Given the description of an element on the screen output the (x, y) to click on. 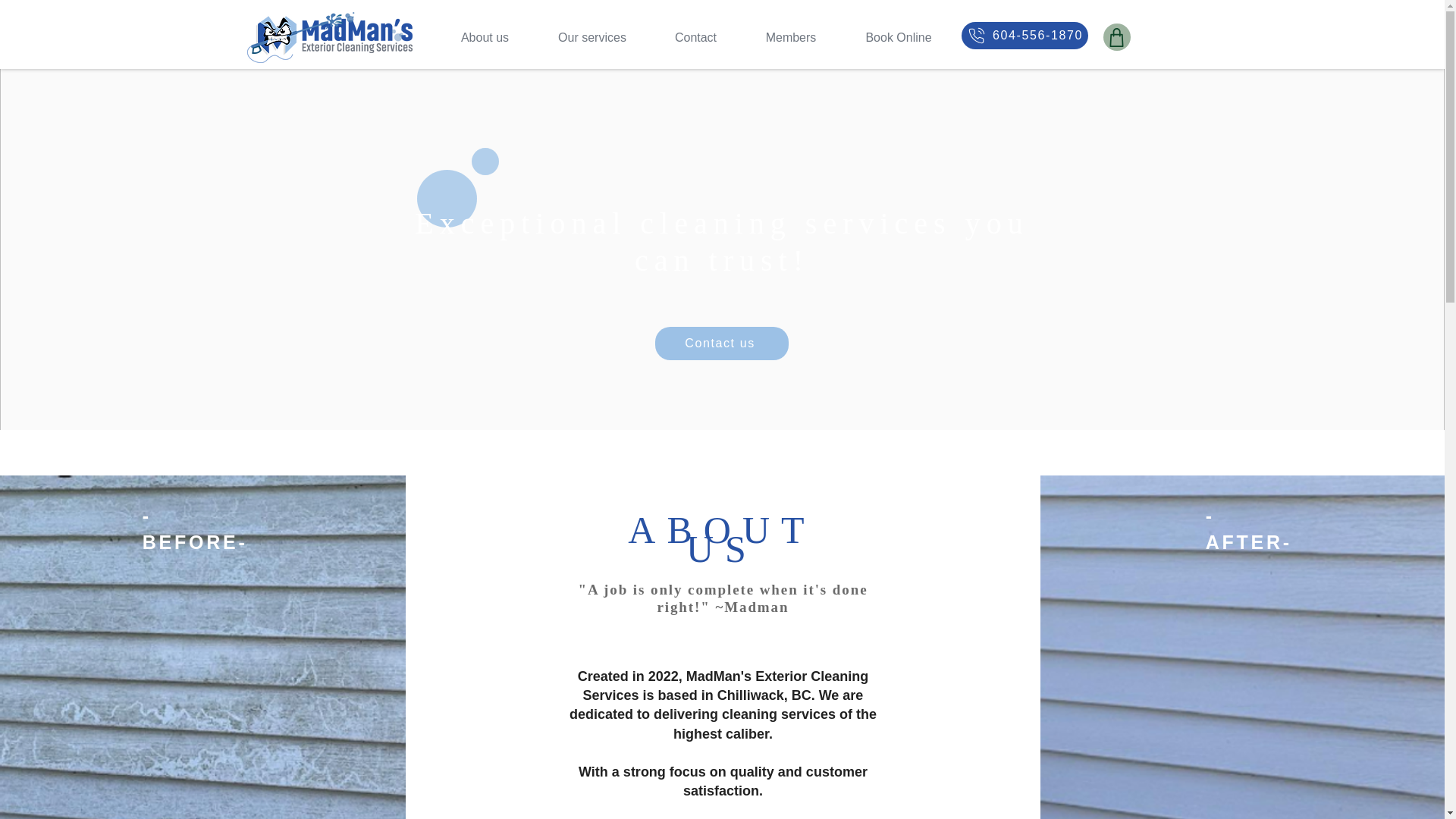
About us (484, 37)
604-556-1870 (1023, 35)
Book Online (898, 37)
Contact us (722, 343)
Contact (695, 37)
Our services (591, 37)
Members (791, 37)
